Given the description of an element on the screen output the (x, y) to click on. 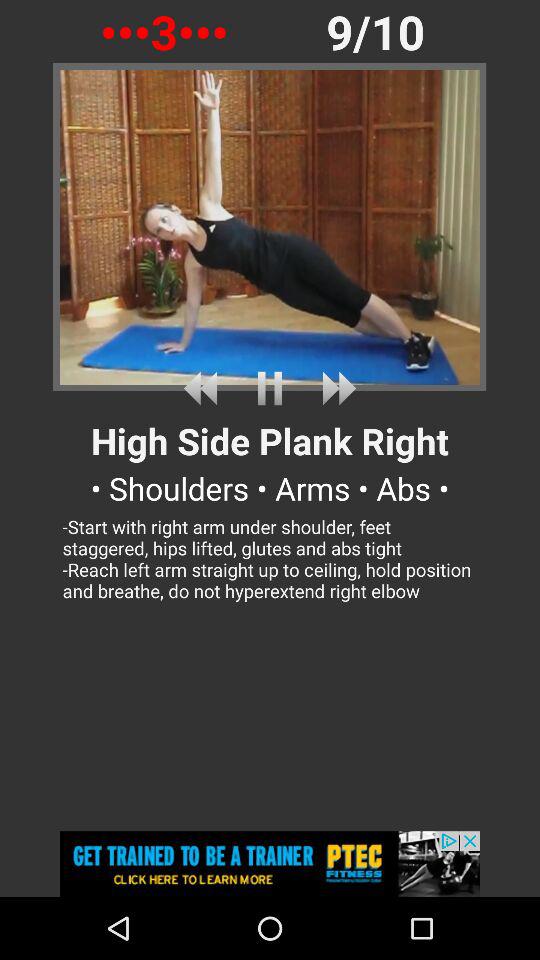
video previous (204, 388)
